Given the description of an element on the screen output the (x, y) to click on. 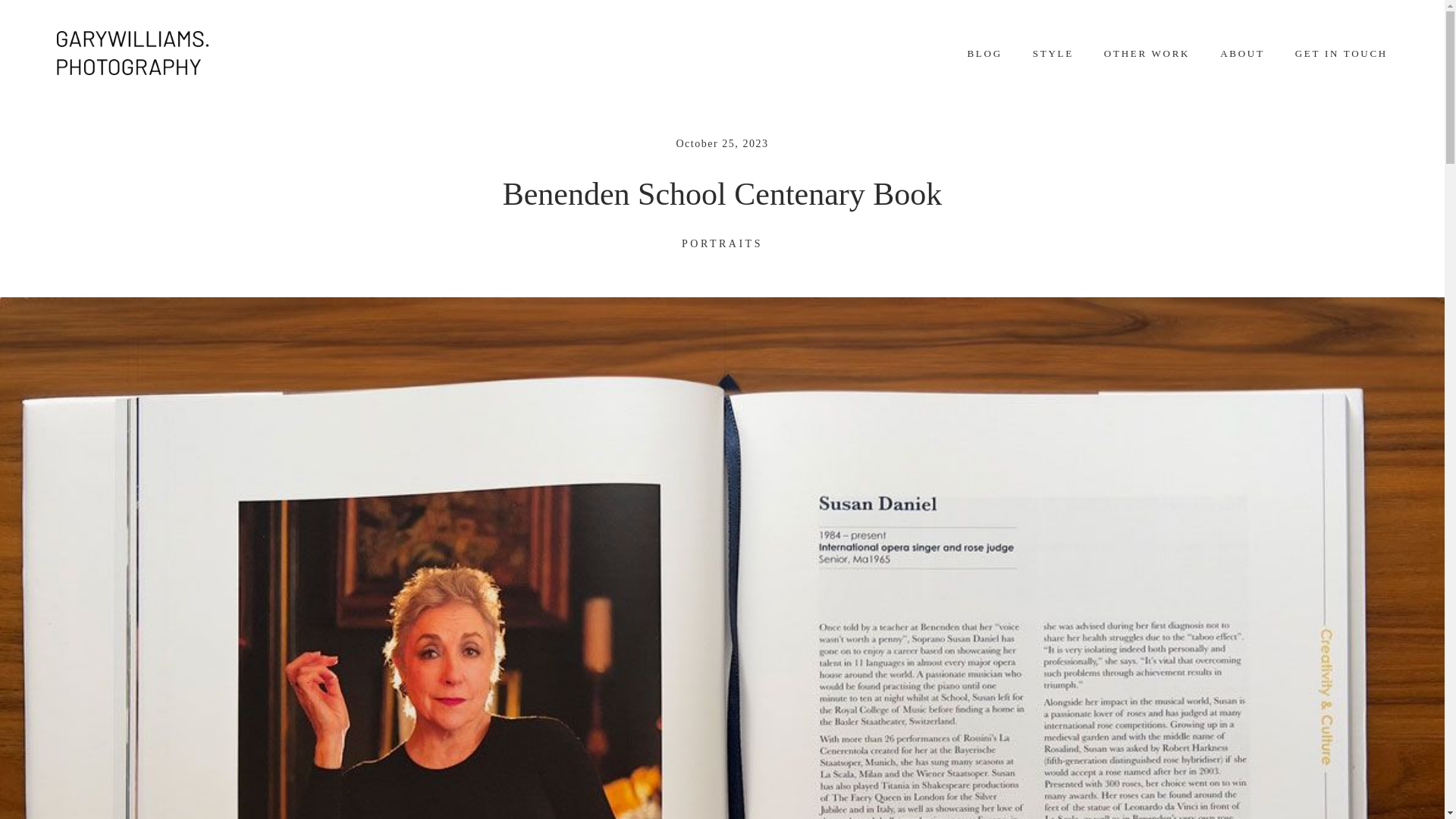
PORTRAITS (721, 243)
ABOUT (1241, 53)
OTHER WORK (1146, 53)
GET IN TOUCH (1340, 53)
BLOG (984, 53)
STYLE (1053, 53)
